Given the description of an element on the screen output the (x, y) to click on. 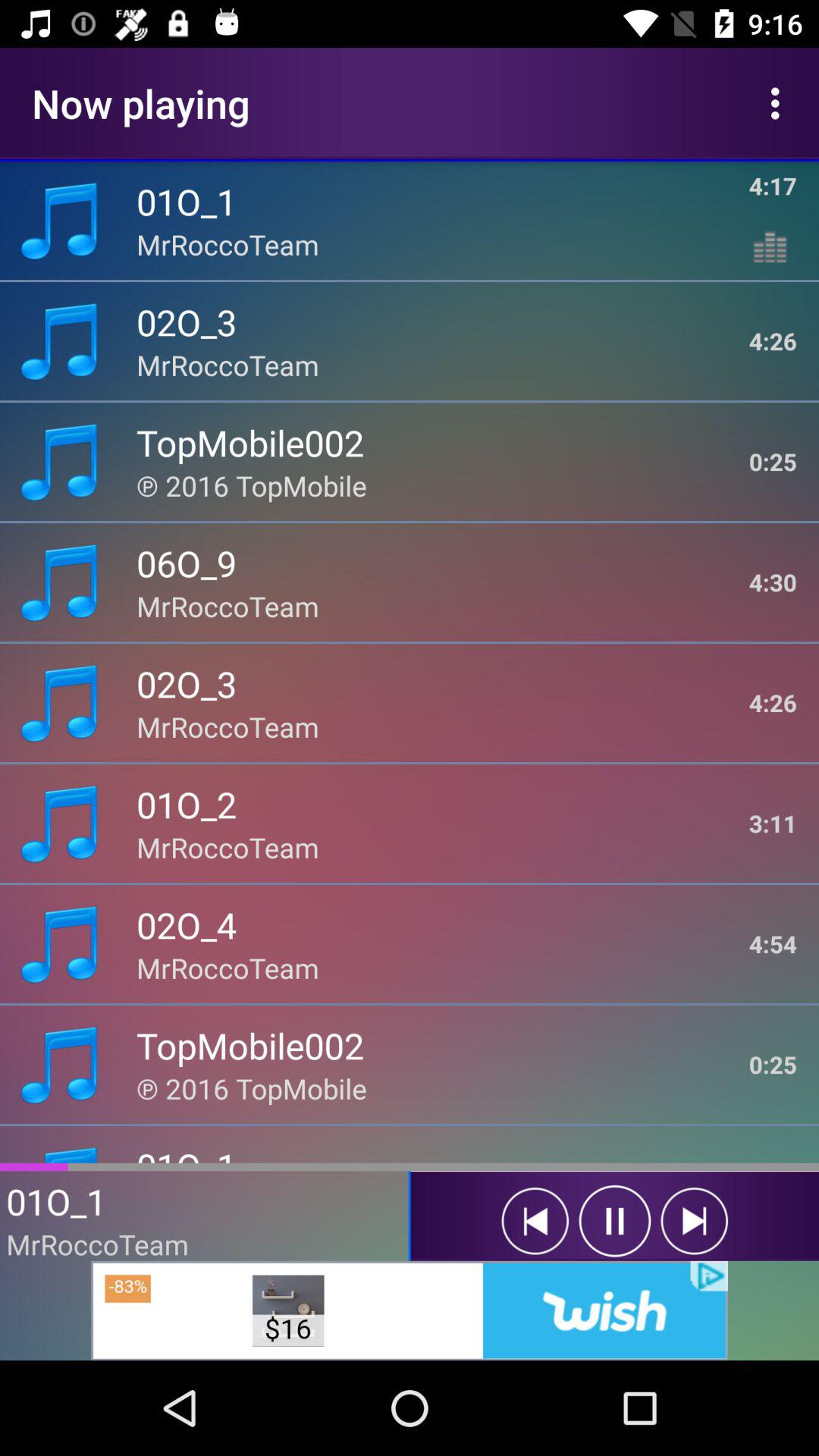
adverdesment link (409, 1310)
